Given the description of an element on the screen output the (x, y) to click on. 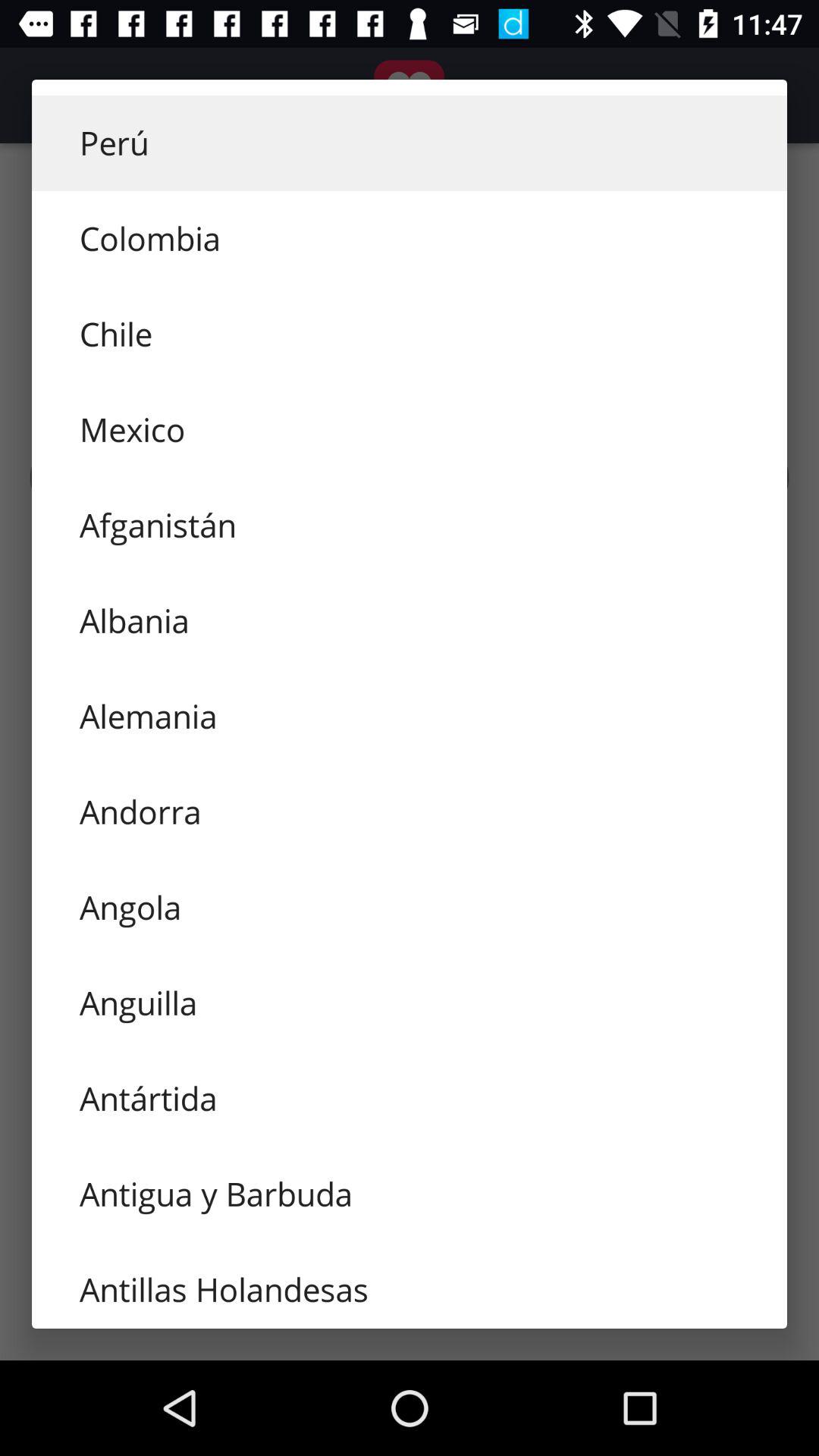
press the alemania icon (409, 716)
